Given the description of an element on the screen output the (x, y) to click on. 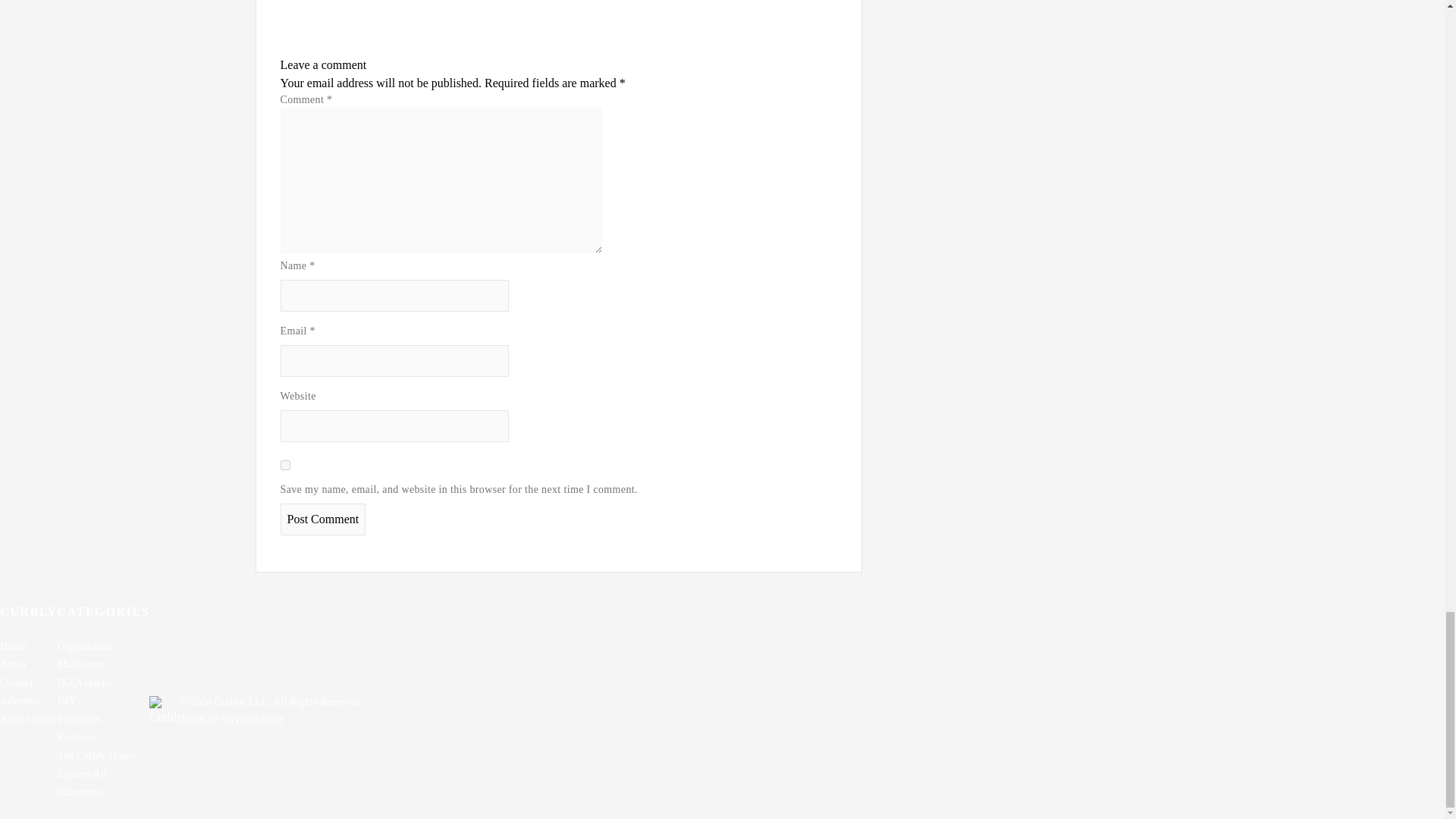
Post Comment (323, 519)
Post Comment (323, 519)
yes (285, 465)
